Given the description of an element on the screen output the (x, y) to click on. 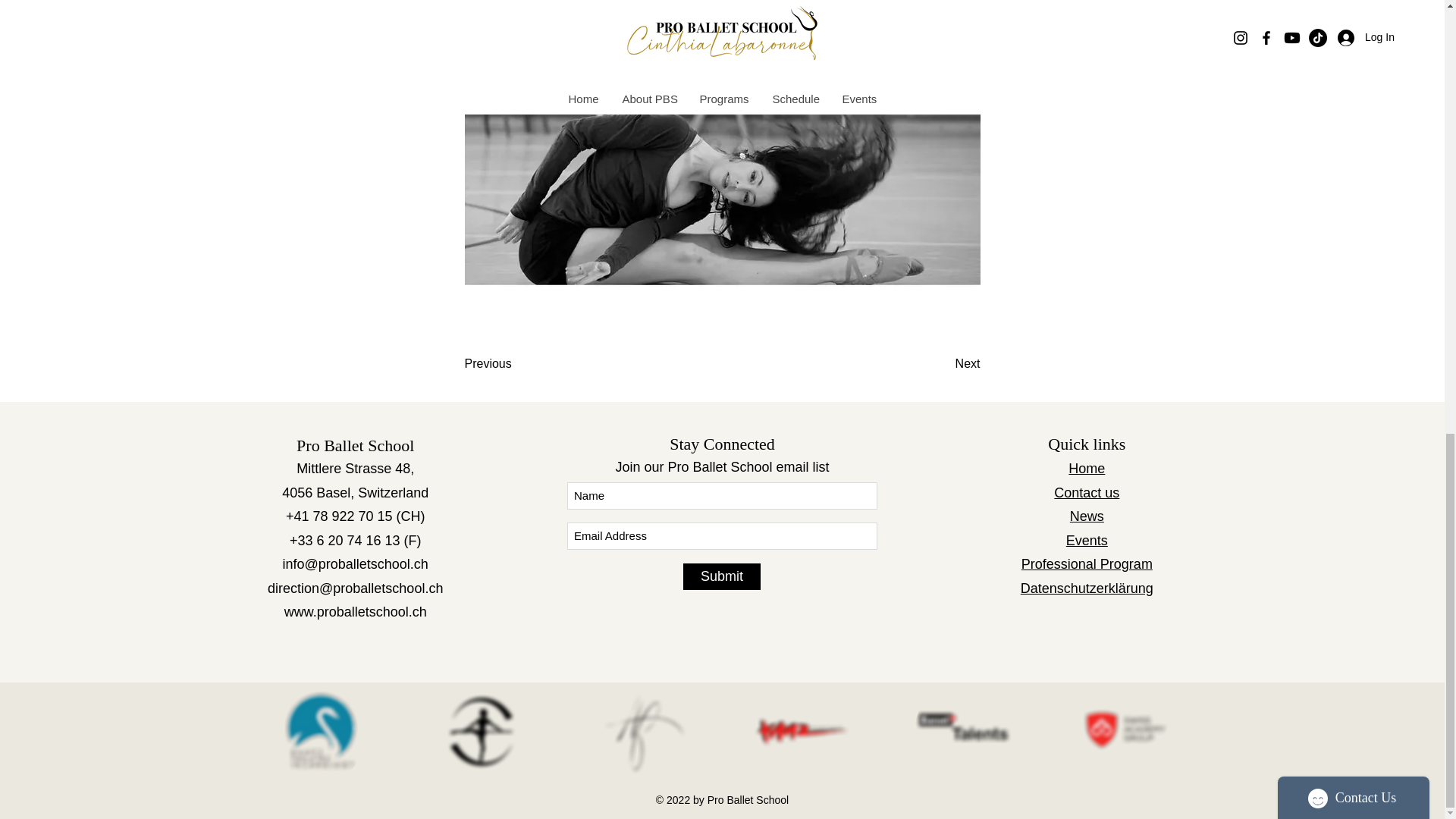
xlogo-big.png.pagespeed.ic.BiAFIeof-B.png (319, 731)
Professional Program (1087, 563)
www.proballetschool.ch (354, 611)
Previous (514, 363)
signature-06.png (641, 731)
Submit (721, 576)
Contact us (1086, 492)
Events (1086, 540)
Next (941, 363)
News (1086, 516)
Swiss Academy Group.png (1124, 731)
Home (1086, 468)
Logo-Basel-Talents.png (962, 731)
